Given the description of an element on the screen output the (x, y) to click on. 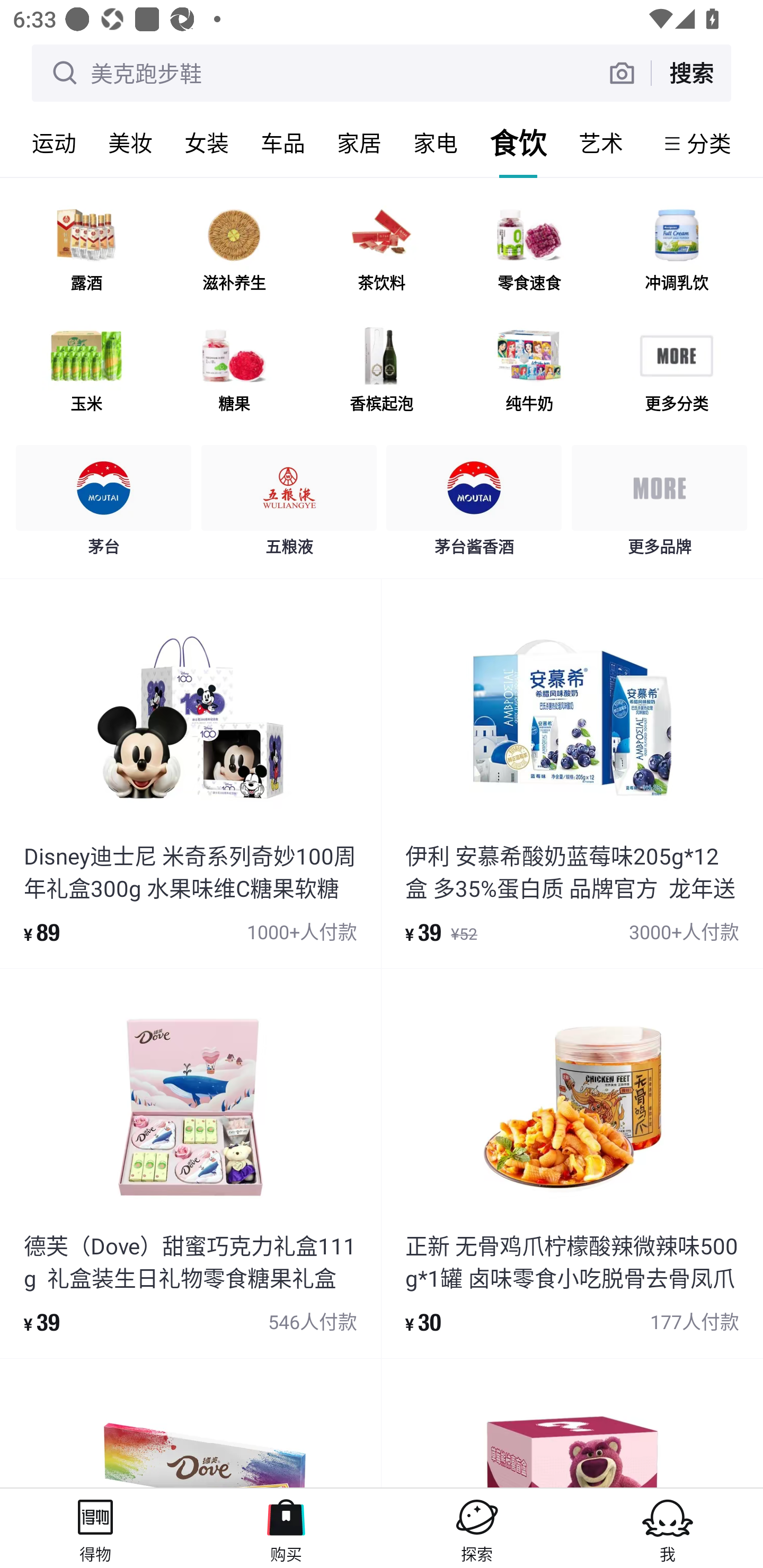
搜索 (690, 72)
运动 (54, 143)
美妆 (130, 143)
女装 (206, 143)
车品 (282, 143)
家居 (359, 143)
家电 (435, 143)
食饮 (518, 143)
艺术 (601, 143)
分类 (708, 143)
露酒 (86, 251)
滋补养生 (233, 251)
茶饮料 (381, 251)
零食速食 (528, 251)
冲调乳饮 (676, 251)
玉米 (86, 372)
糖果 (233, 372)
香槟起泡 (381, 372)
纯牛奶 (528, 372)
更多分类 (676, 372)
茅台 (103, 505)
五粮液 (288, 505)
茅台酱香酒 (473, 505)
更多品牌 (658, 505)
product_item (572, 1423)
得物 (95, 1528)
购买 (285, 1528)
探索 (476, 1528)
我 (667, 1528)
